Given the description of an element on the screen output the (x, y) to click on. 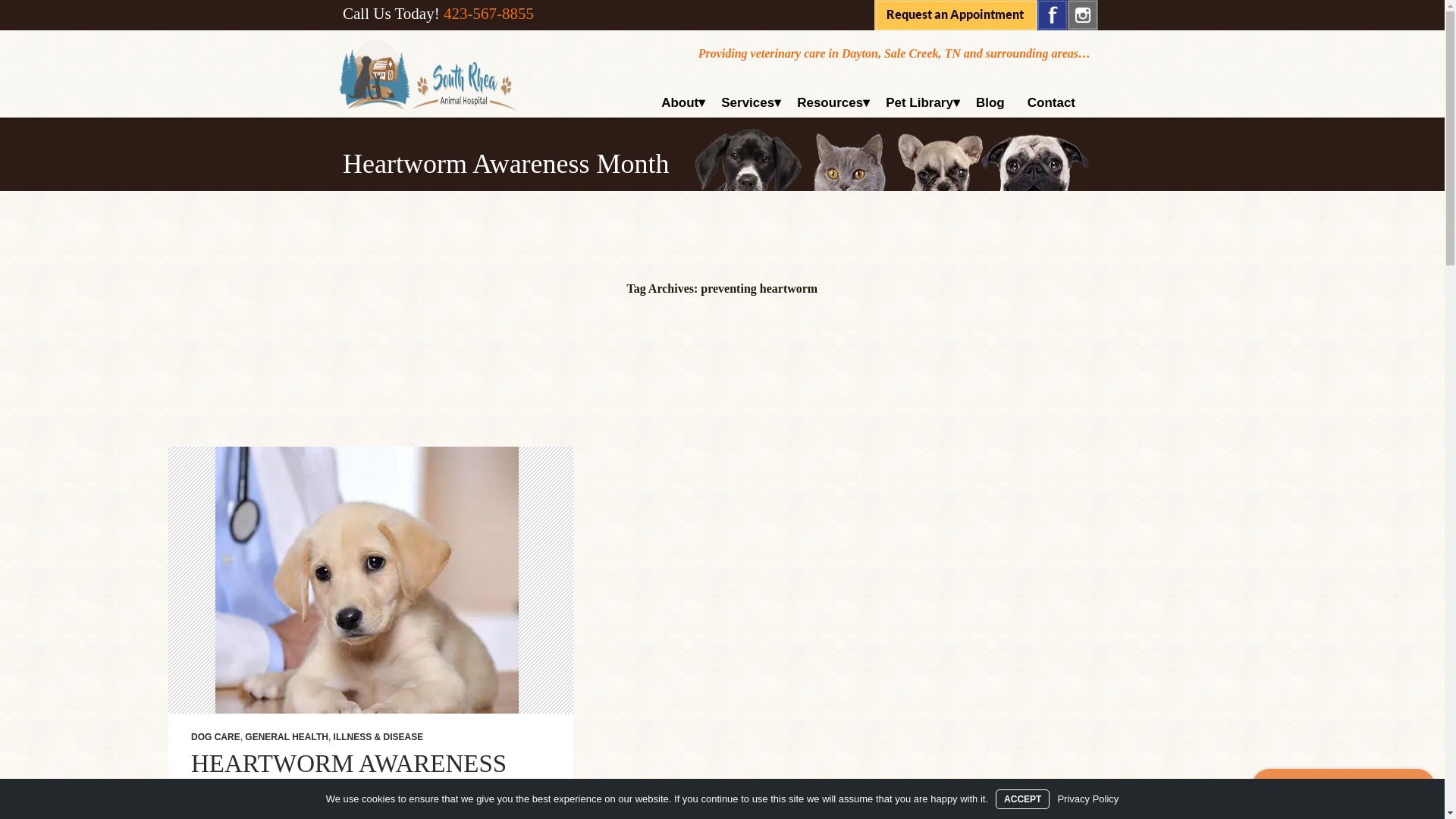
Resources (830, 102)
Facebook (1051, 15)
About (679, 102)
Pet Library (919, 102)
Request an Appointment (955, 15)
423-567-8855 (489, 13)
Services (748, 102)
Blog (989, 102)
South Rhea Animal Hospital Home (427, 75)
Instagram (1082, 15)
